Given the description of an element on the screen output the (x, y) to click on. 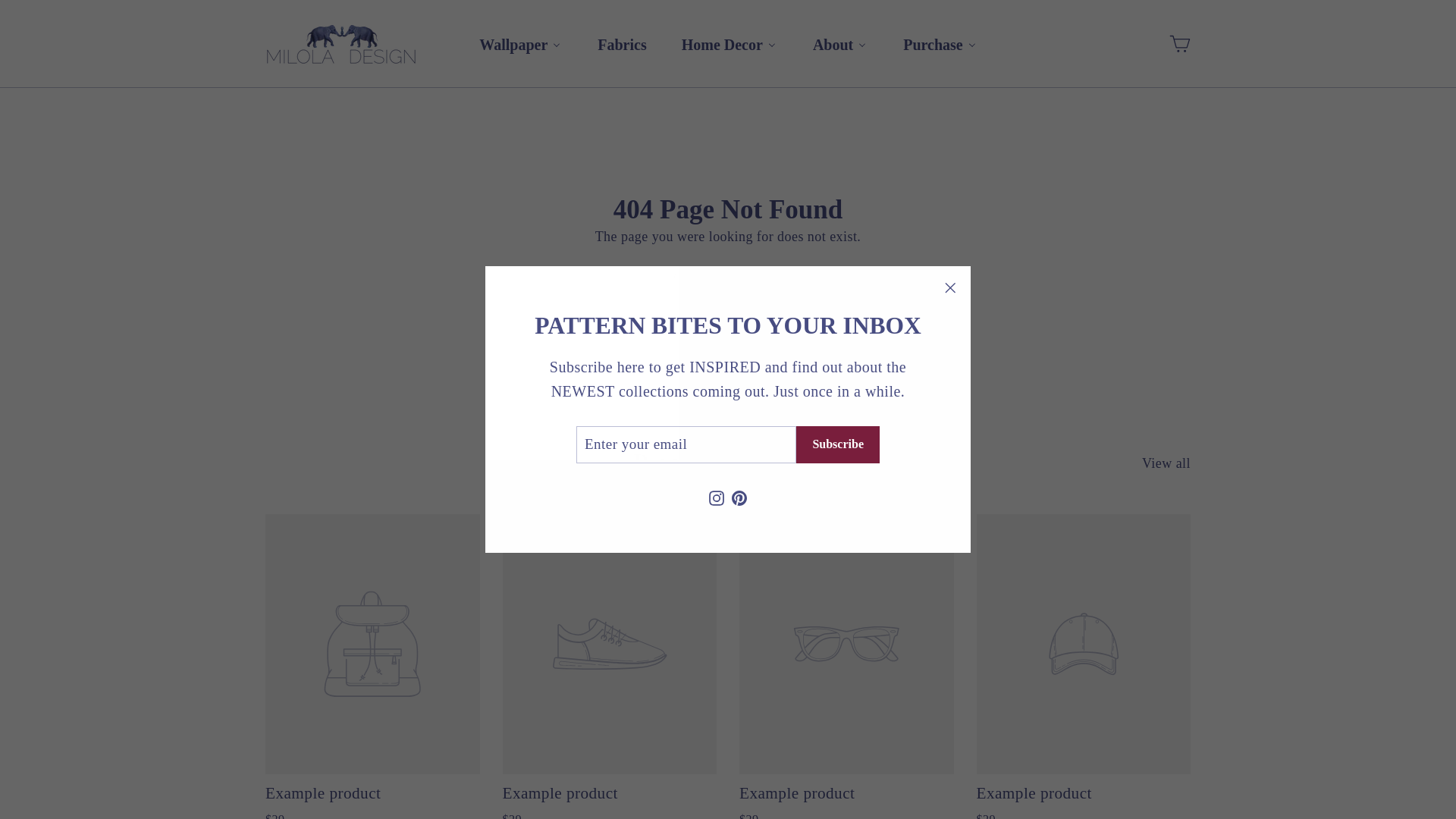
icon-cart (1180, 43)
Milola Design on Instagram (716, 496)
Milola Design on Pinterest (739, 496)
icon-X (949, 287)
